Given the description of an element on the screen output the (x, y) to click on. 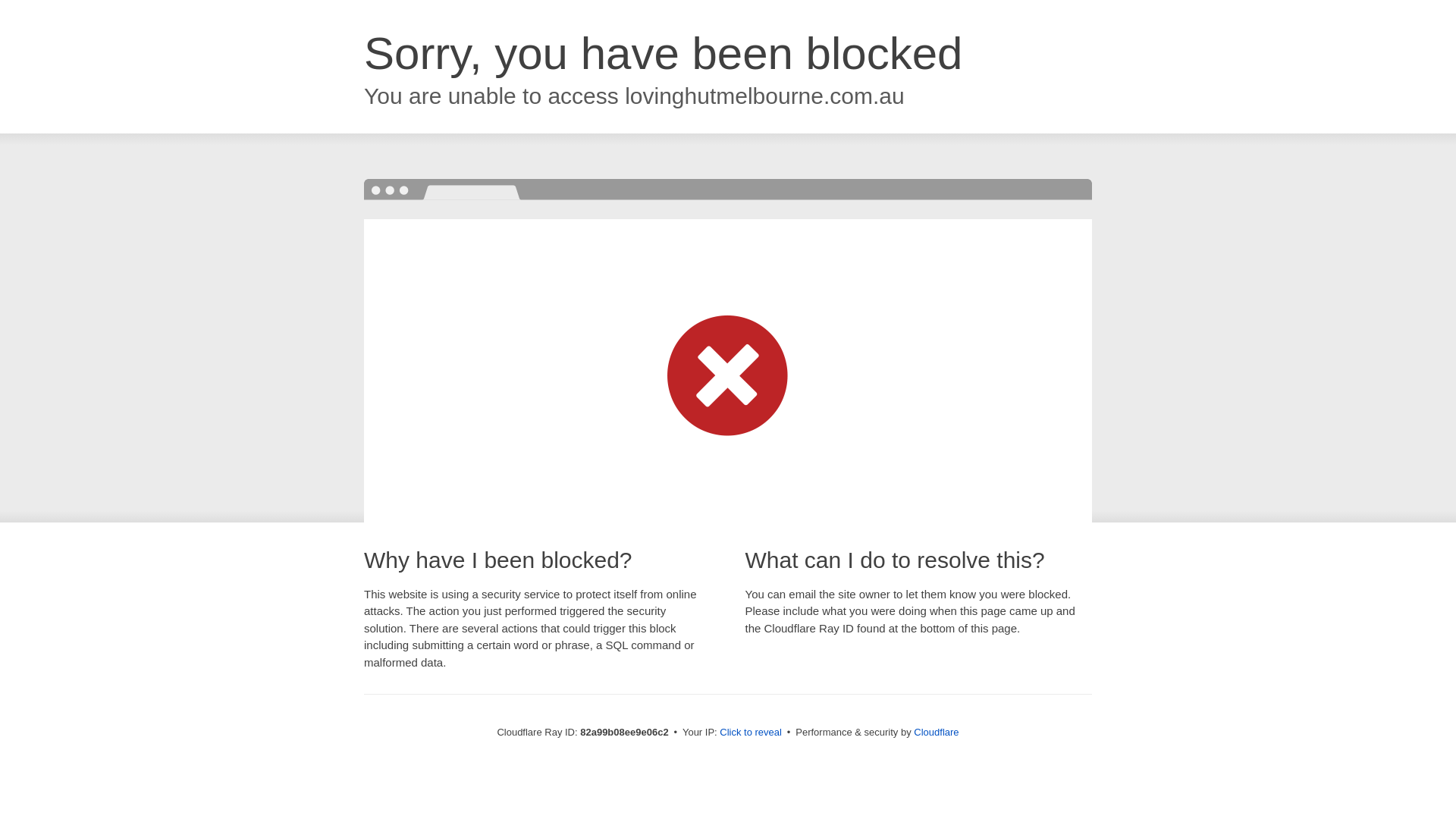
Cloudflare Element type: text (935, 731)
Click to reveal Element type: text (750, 732)
